Given the description of an element on the screen output the (x, y) to click on. 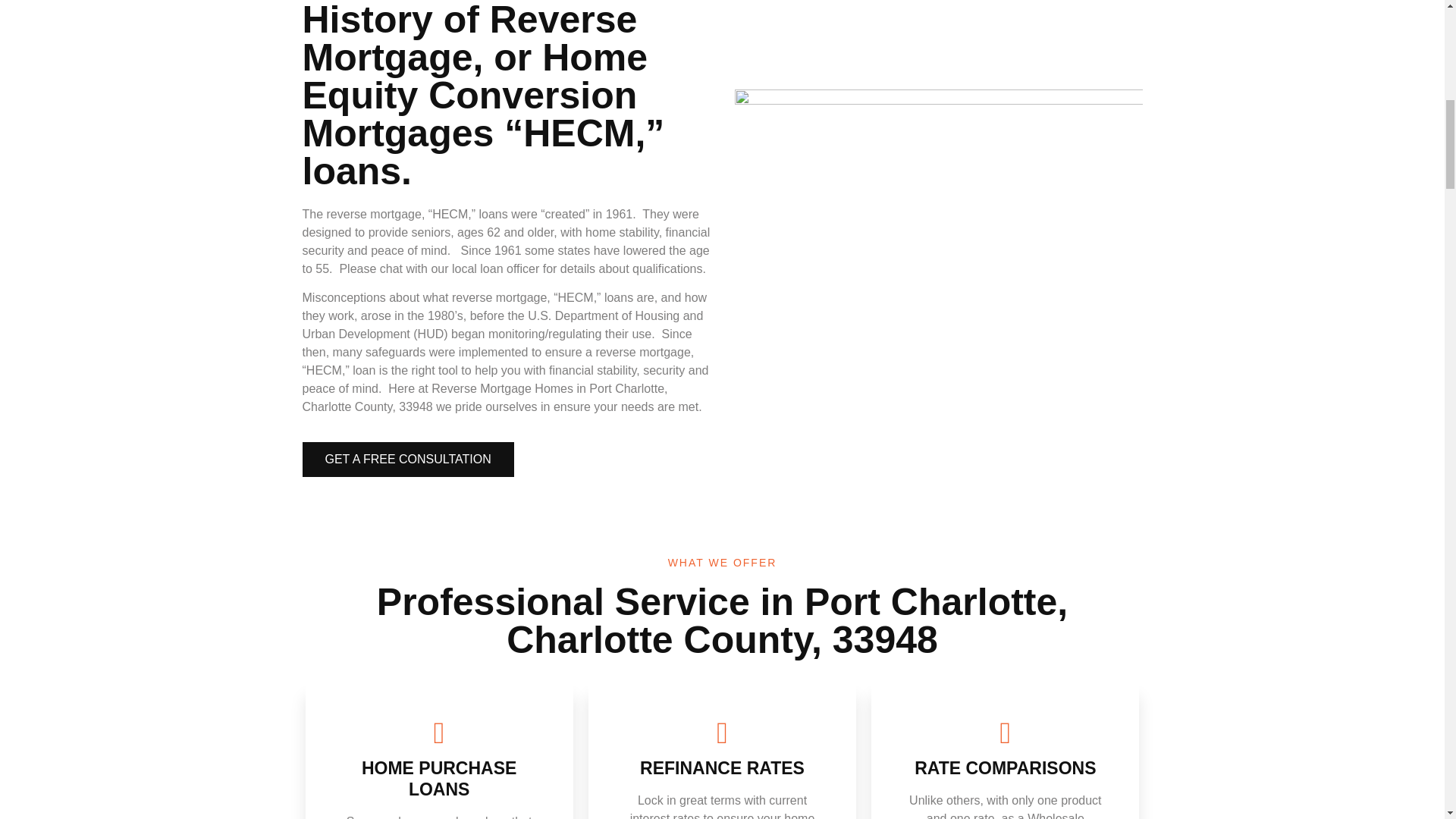
GET A FREE CONSULTATION (407, 459)
